Given the description of an element on the screen output the (x, y) to click on. 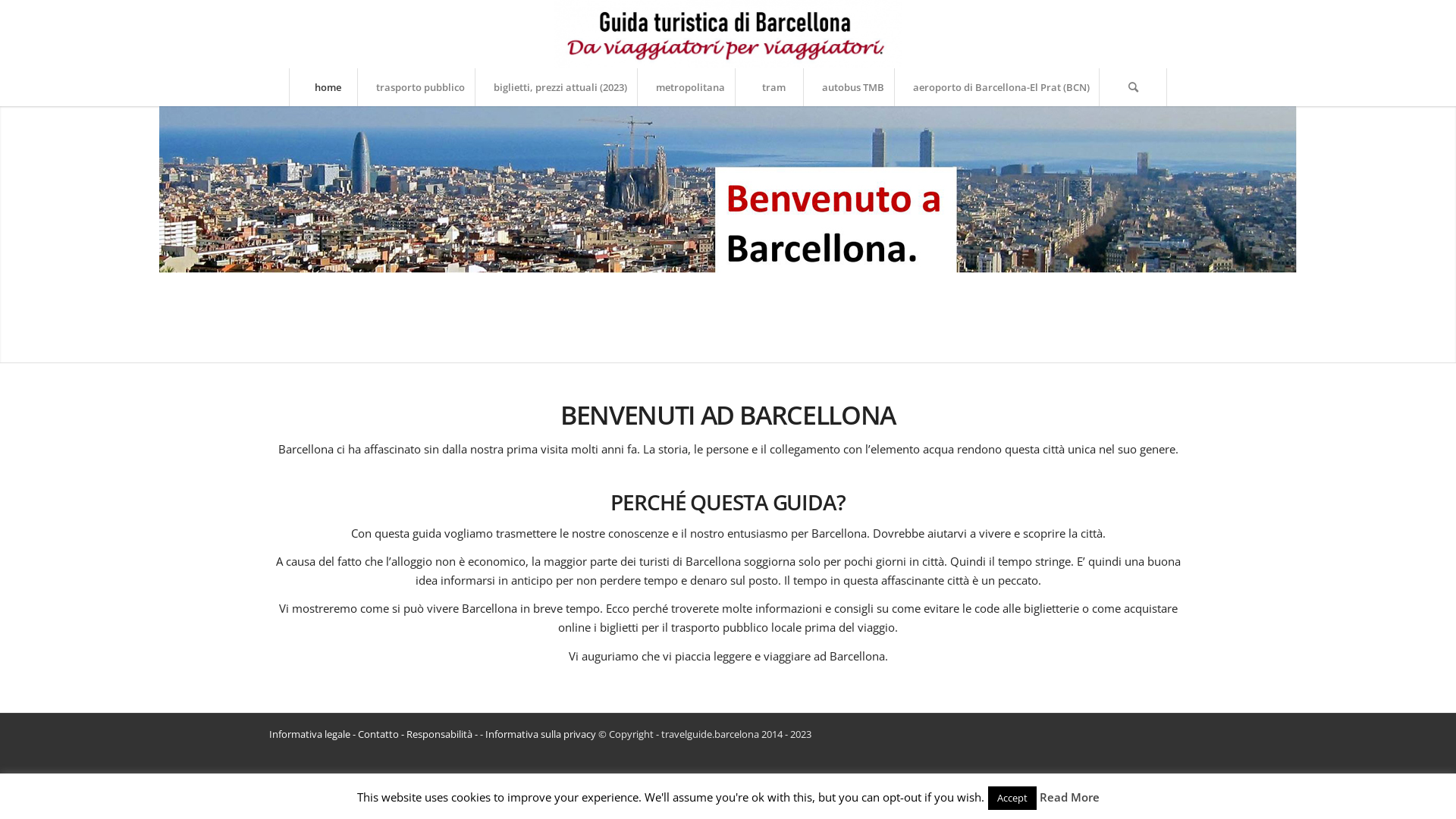
Accept Element type: text (1011, 797)
trasporto_pubblico_locale_Barcellona Element type: hover (727, 190)
Informativa sulla privacy Element type: text (540, 733)
Read More Element type: text (1068, 796)
